Given the description of an element on the screen output the (x, y) to click on. 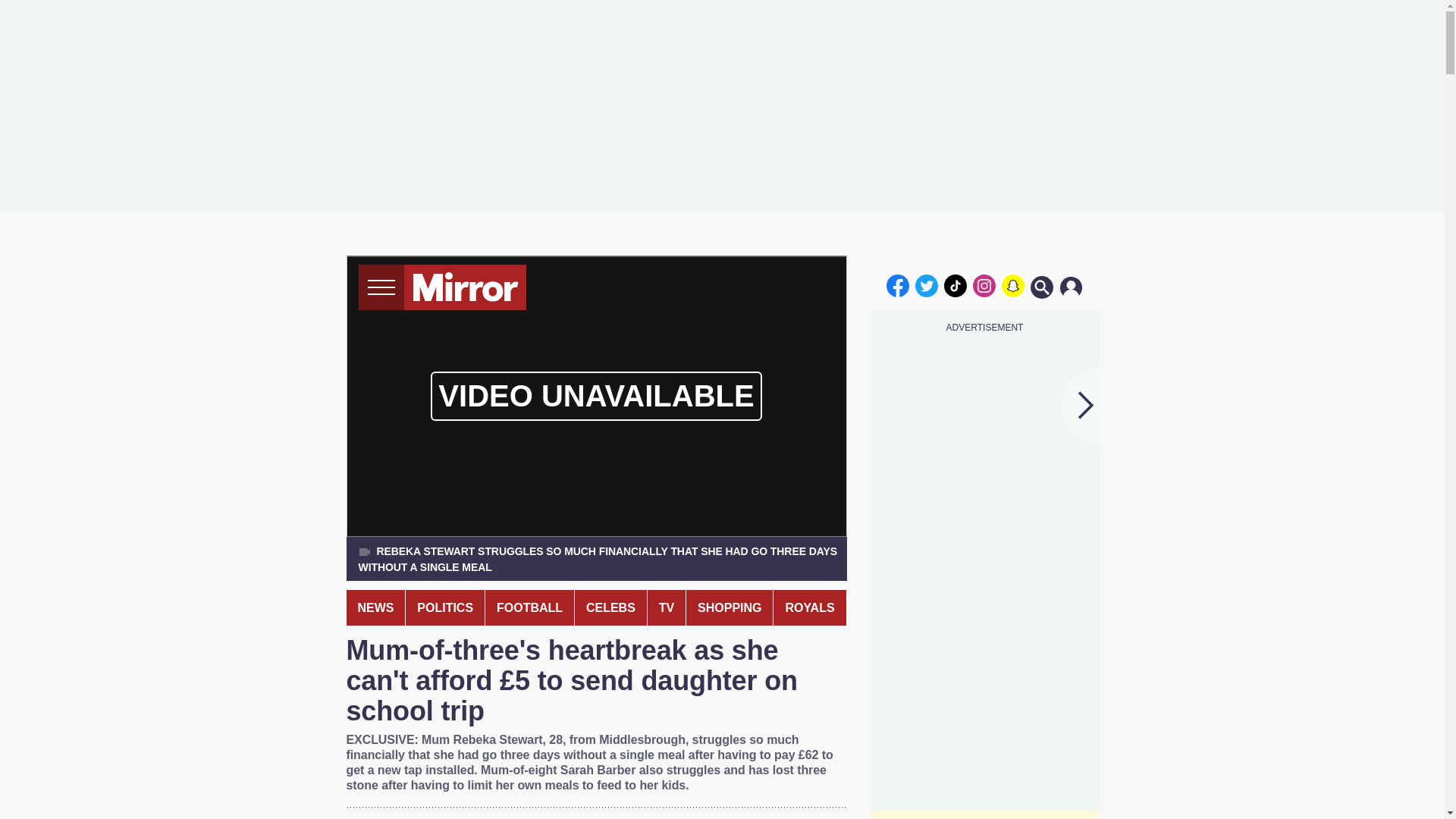
twitter (926, 285)
tiktok (955, 285)
POLITICS (445, 607)
instagram (984, 285)
NEWS (375, 607)
facebook (897, 285)
CELEBS (610, 607)
snapchat (1012, 285)
FOOTBALL (528, 607)
